Given the description of an element on the screen output the (x, y) to click on. 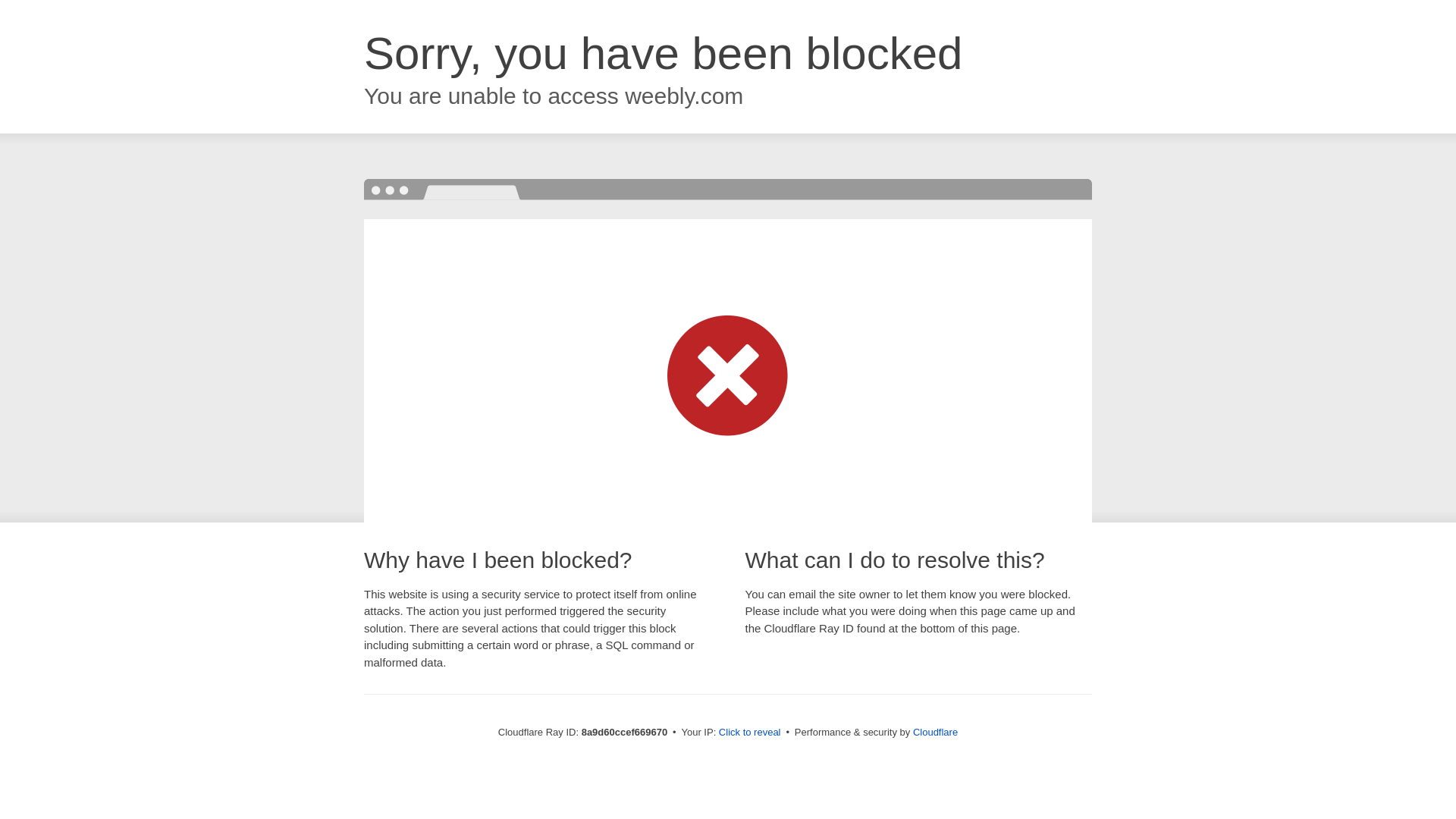
Cloudflare (935, 731)
Click to reveal (749, 732)
